Given the description of an element on the screen output the (x, y) to click on. 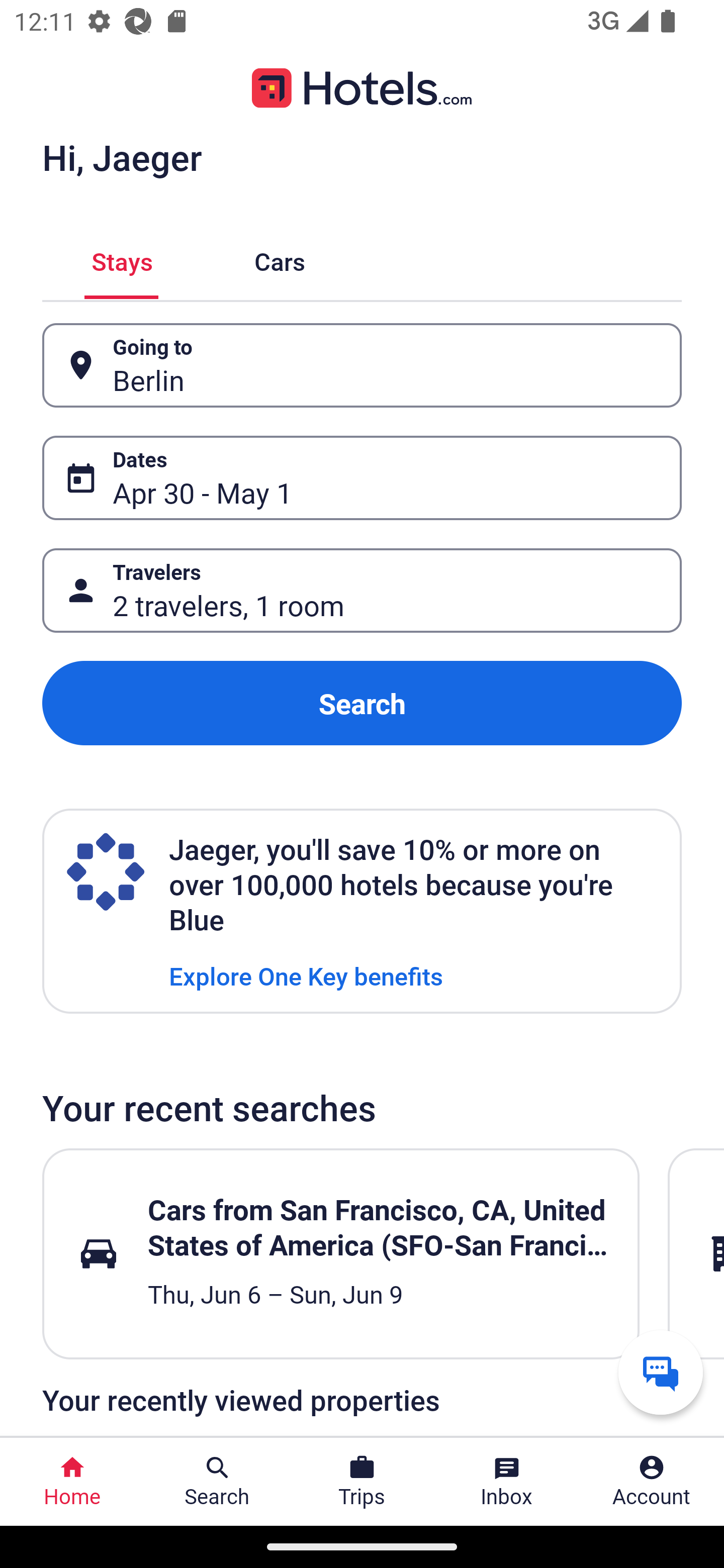
Hi, Jaeger (121, 156)
Cars (279, 259)
Going to Button Berlin (361, 365)
Dates Button Apr 30 - May 1 (361, 477)
Travelers Button 2 travelers, 1 room (361, 590)
Search (361, 702)
Get help from a virtual agent (660, 1371)
Search Search Button (216, 1481)
Trips Trips Button (361, 1481)
Inbox Inbox Button (506, 1481)
Account Profile. Button (651, 1481)
